Given the description of an element on the screen output the (x, y) to click on. 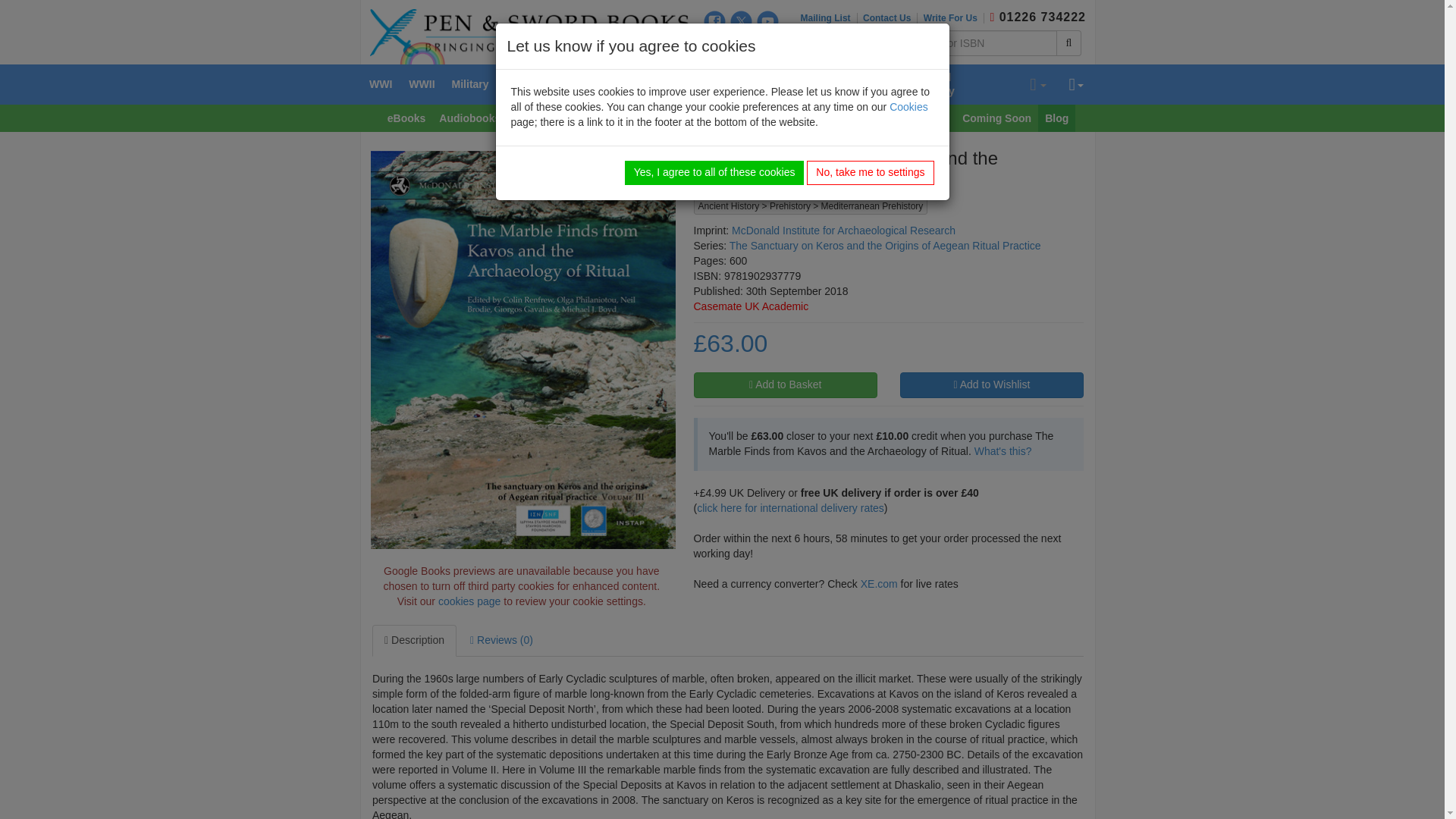
X (741, 21)
TikTok (741, 45)
YouTube (767, 21)
Instagram (714, 45)
Write For Us (953, 18)
Your basket is empty (1037, 84)
Facebook (714, 21)
NetGalley (767, 45)
Mailing List (828, 18)
Contact Us (890, 18)
